Given the description of an element on the screen output the (x, y) to click on. 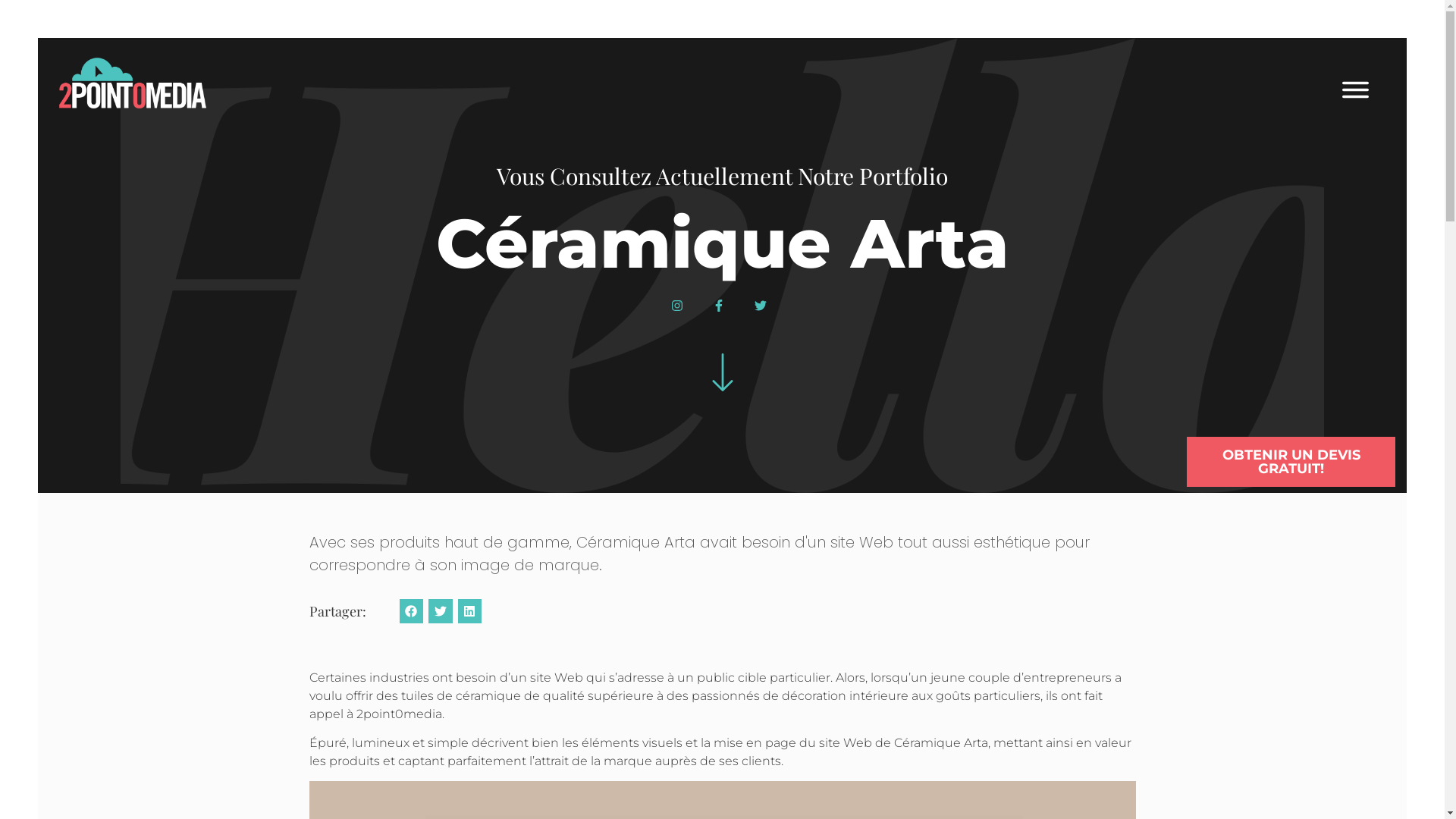
OBTENIR UN DEVIS GRATUIT! Element type: text (1290, 461)
